Given the description of an element on the screen output the (x, y) to click on. 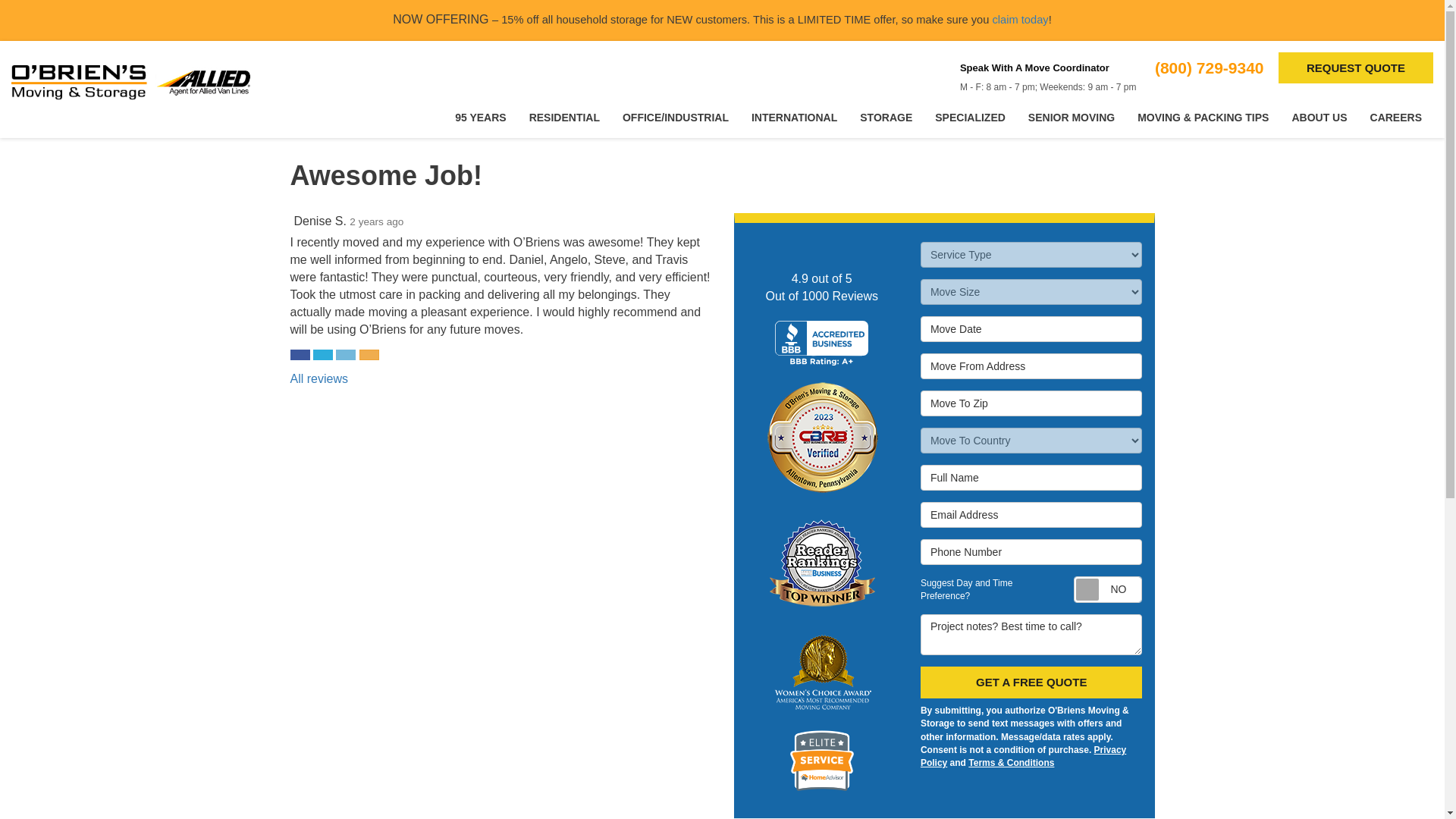
RESIDENTIAL (564, 118)
SPECIALIZED (969, 118)
95 YEARS (480, 118)
INTERNATIONAL (793, 118)
claim today (1019, 19)
SENIOR MOVING (1070, 118)
STORAGE (885, 118)
REQUEST QUOTE (1355, 67)
5 Stars (307, 220)
REQUEST QUOTE (1355, 67)
